Given the description of an element on the screen output the (x, y) to click on. 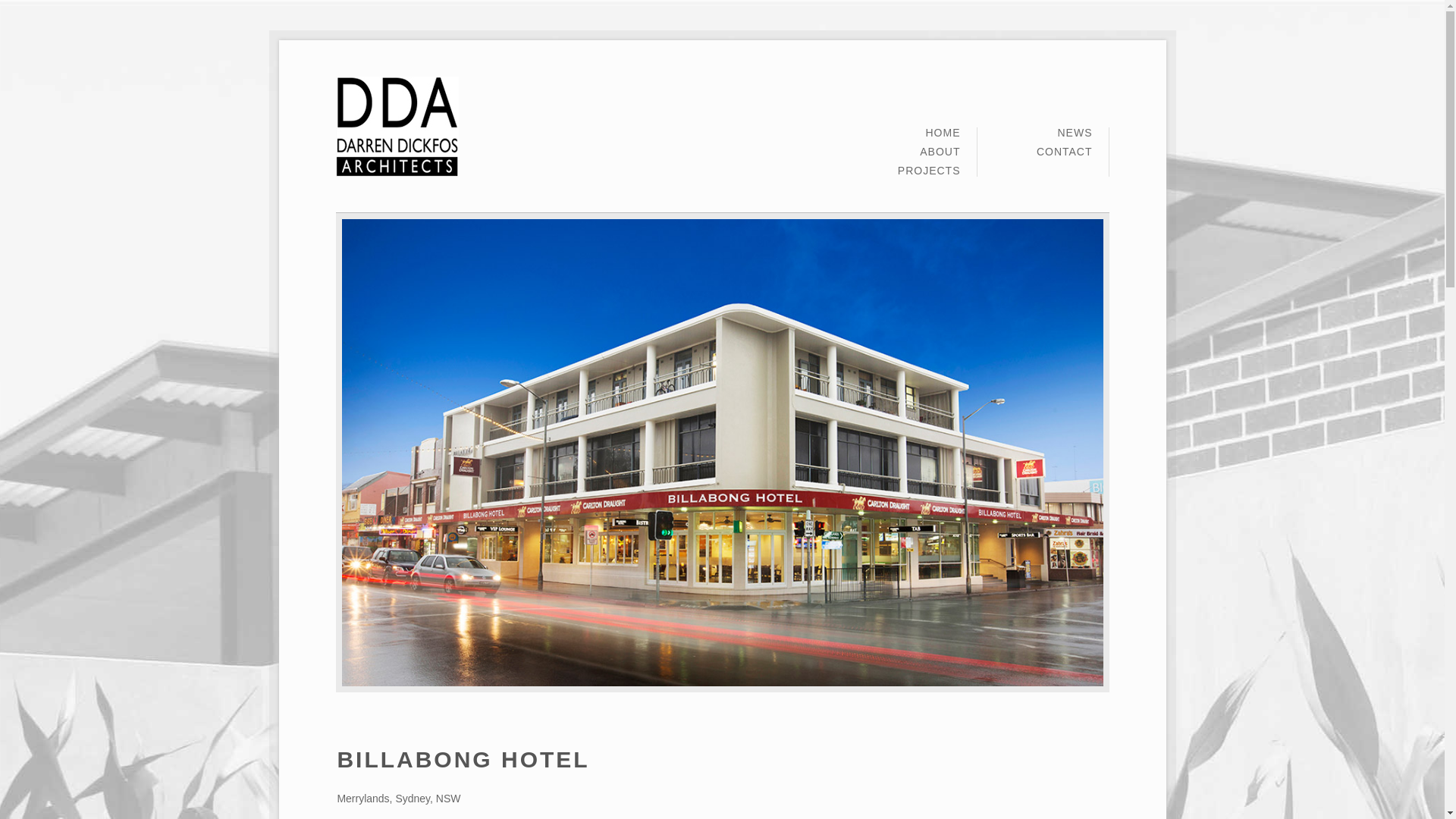
ABOUT Element type: text (939, 155)
CONTACT Element type: text (1064, 151)
billabong  1 Element type: hover (721, 452)
NEWS Element type: text (1074, 136)
HOME Element type: text (942, 136)
Darren Dickfos Architects Element type: hover (396, 126)
PROJECTS Element type: text (928, 170)
